Given the description of an element on the screen output the (x, y) to click on. 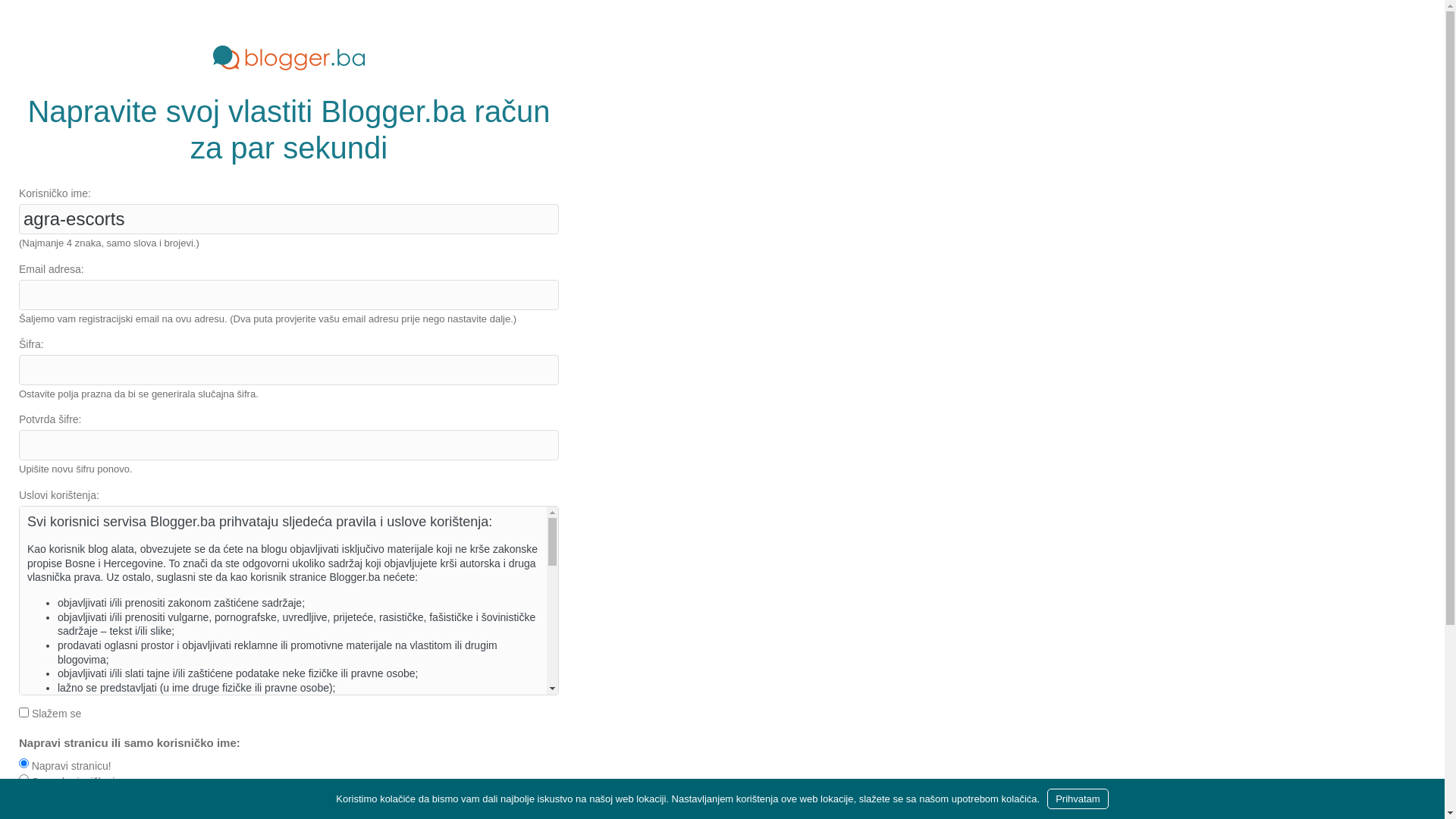
Prihvatam Element type: text (1077, 798)
